Given the description of an element on the screen output the (x, y) to click on. 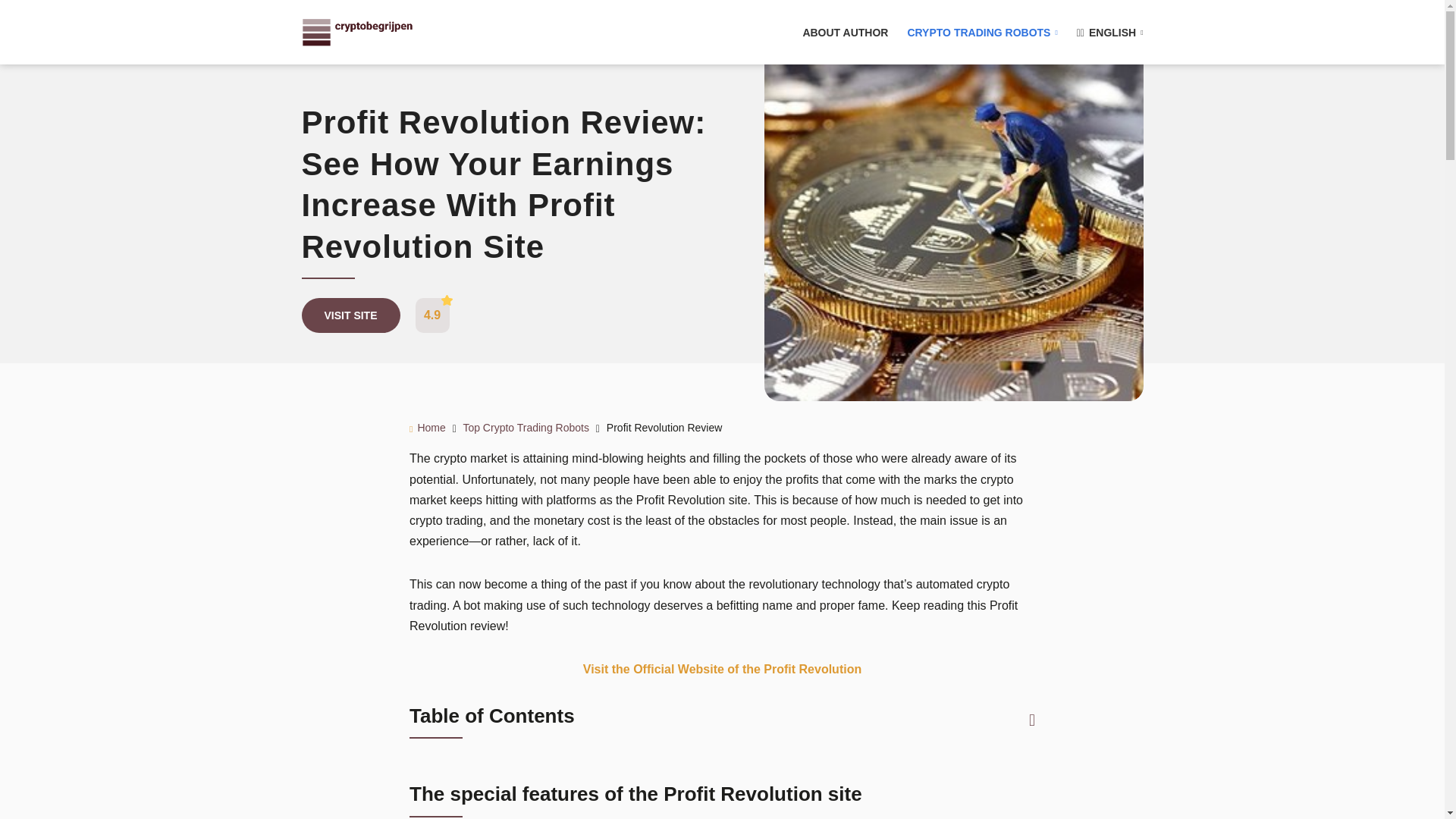
Cryptobegrijpen (357, 31)
English (1109, 31)
ABOUT AUTHOR (845, 31)
CRYPTO TRADING ROBOTS (982, 31)
